Given the description of an element on the screen output the (x, y) to click on. 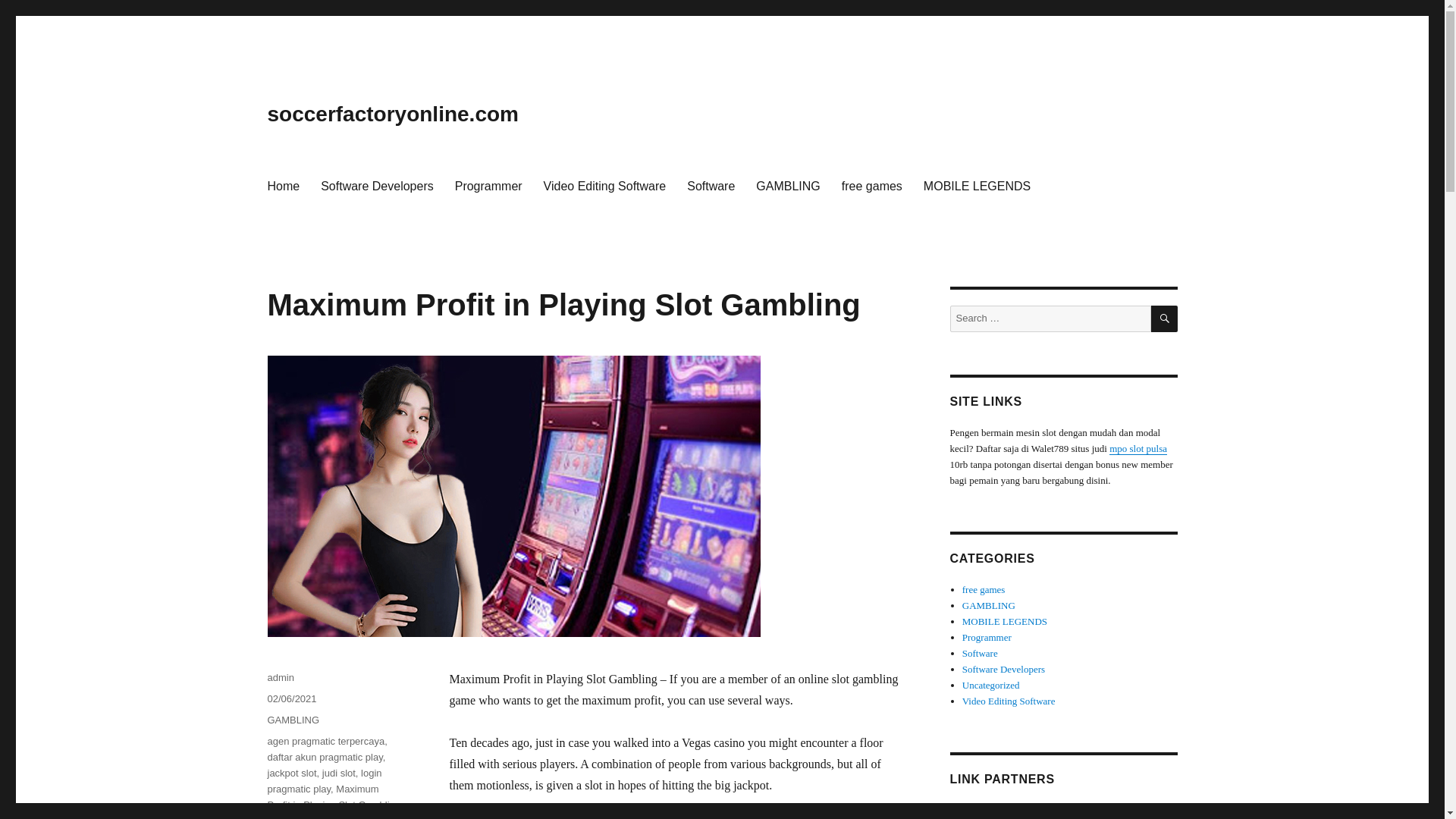
Software (711, 185)
Video Editing Software (604, 185)
agen pragmatic terpercaya (325, 740)
admin (280, 677)
judi slot (338, 772)
GAMBLING (292, 719)
login pragmatic play (323, 780)
Software Developers (377, 185)
Home (283, 185)
Programmer (488, 185)
MOBILE LEGENDS (976, 185)
pragmatic (288, 816)
pragmatic play (347, 816)
free games (871, 185)
GAMBLING (787, 185)
